Given the description of an element on the screen output the (x, y) to click on. 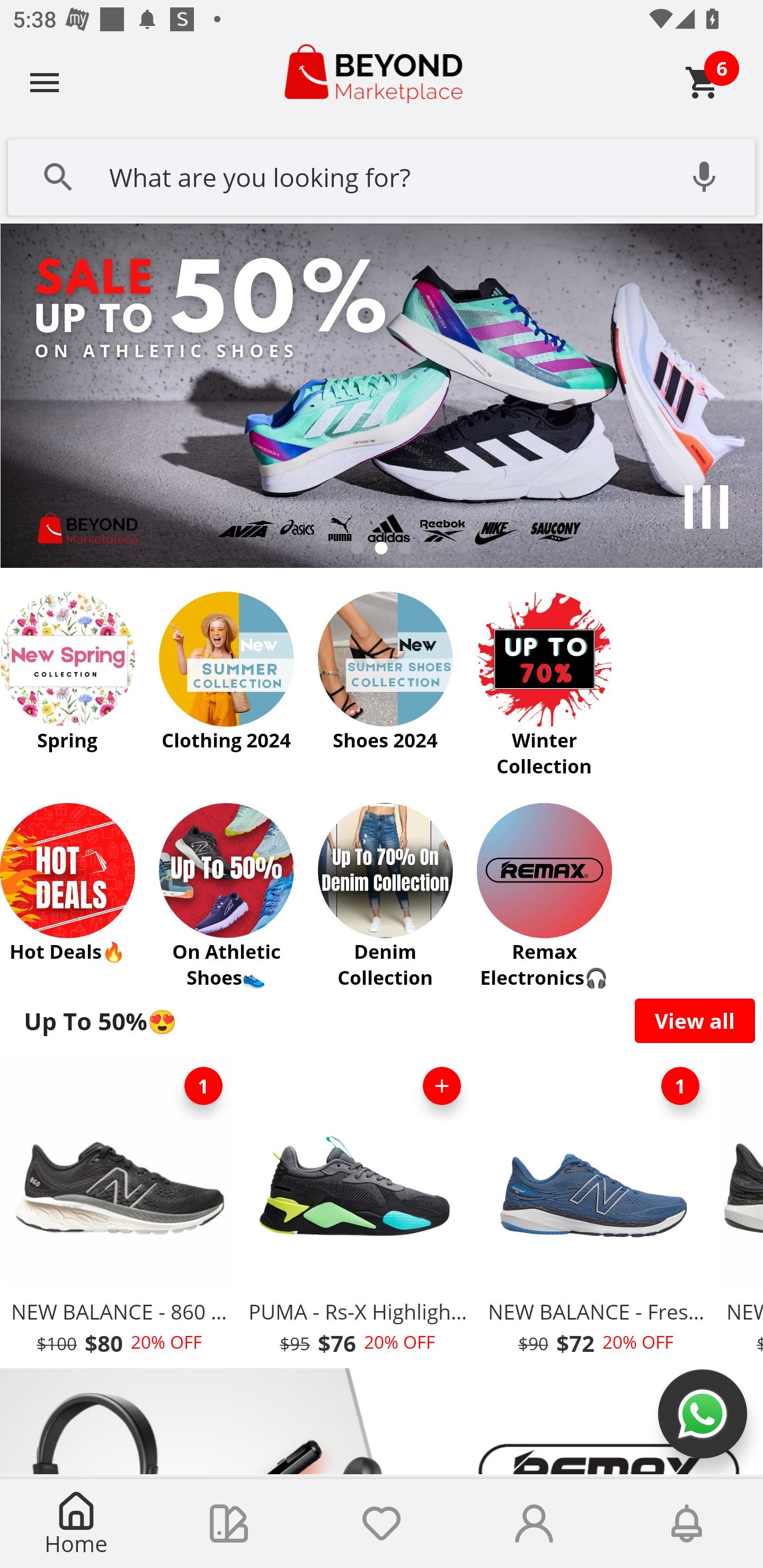
Navigate up (44, 82)
What are you looking for? (381, 175)
View all (694, 1020)
1 NEW BALANCE - 860 Running Shoes $100 $80 20% OFF (119, 1209)
1 (203, 1085)
1 (680, 1085)
Collections (228, 1523)
Wishlist (381, 1523)
Account (533, 1523)
Notifications (686, 1523)
